Given the description of an element on the screen output the (x, y) to click on. 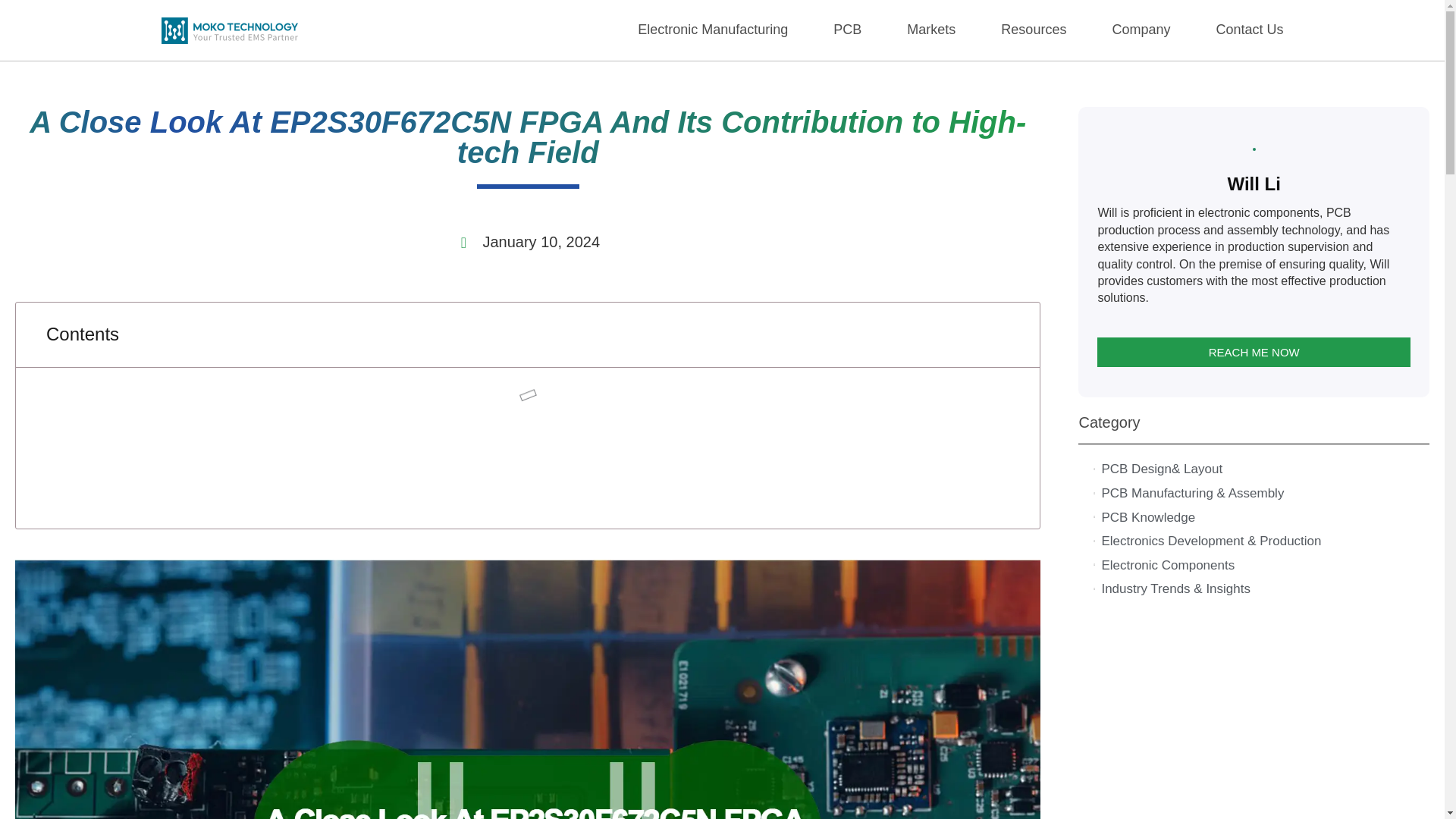
Electronic Manufacturing (712, 30)
